Given the description of an element on the screen output the (x, y) to click on. 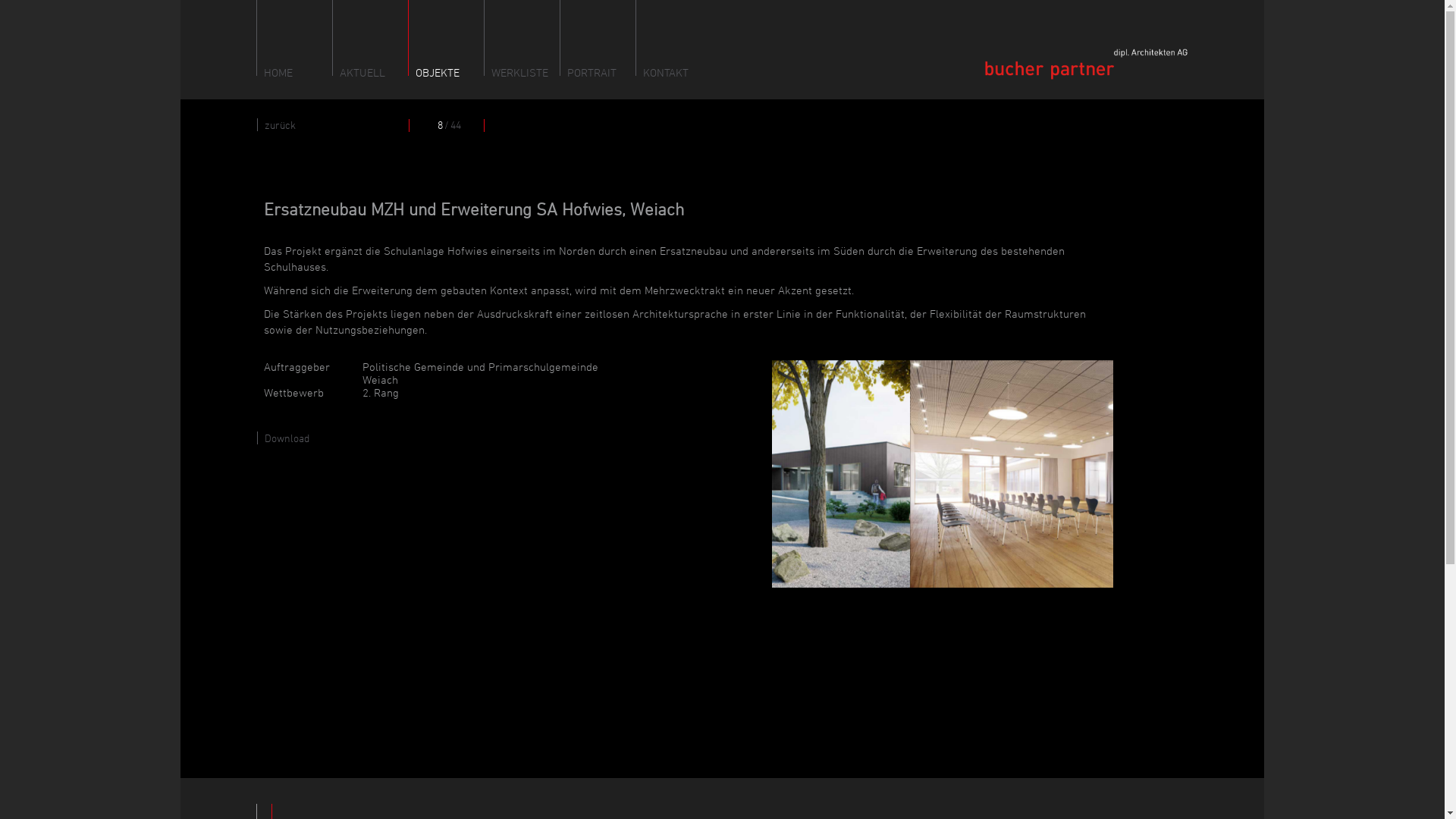
Download Element type: text (283, 437)
HOME Element type: text (297, 37)
  Element type: text (409, 128)
PORTRAIT Element type: text (601, 37)
WERKLISTE Element type: text (525, 37)
KONTAKT Element type: text (677, 37)
Next Element type: text (1049, 473)
  Element type: text (480, 128)
Previous Element type: text (797, 473)
OBJEKTE Element type: text (449, 37)
AKTUELL Element type: text (373, 37)
